Given the description of an element on the screen output the (x, y) to click on. 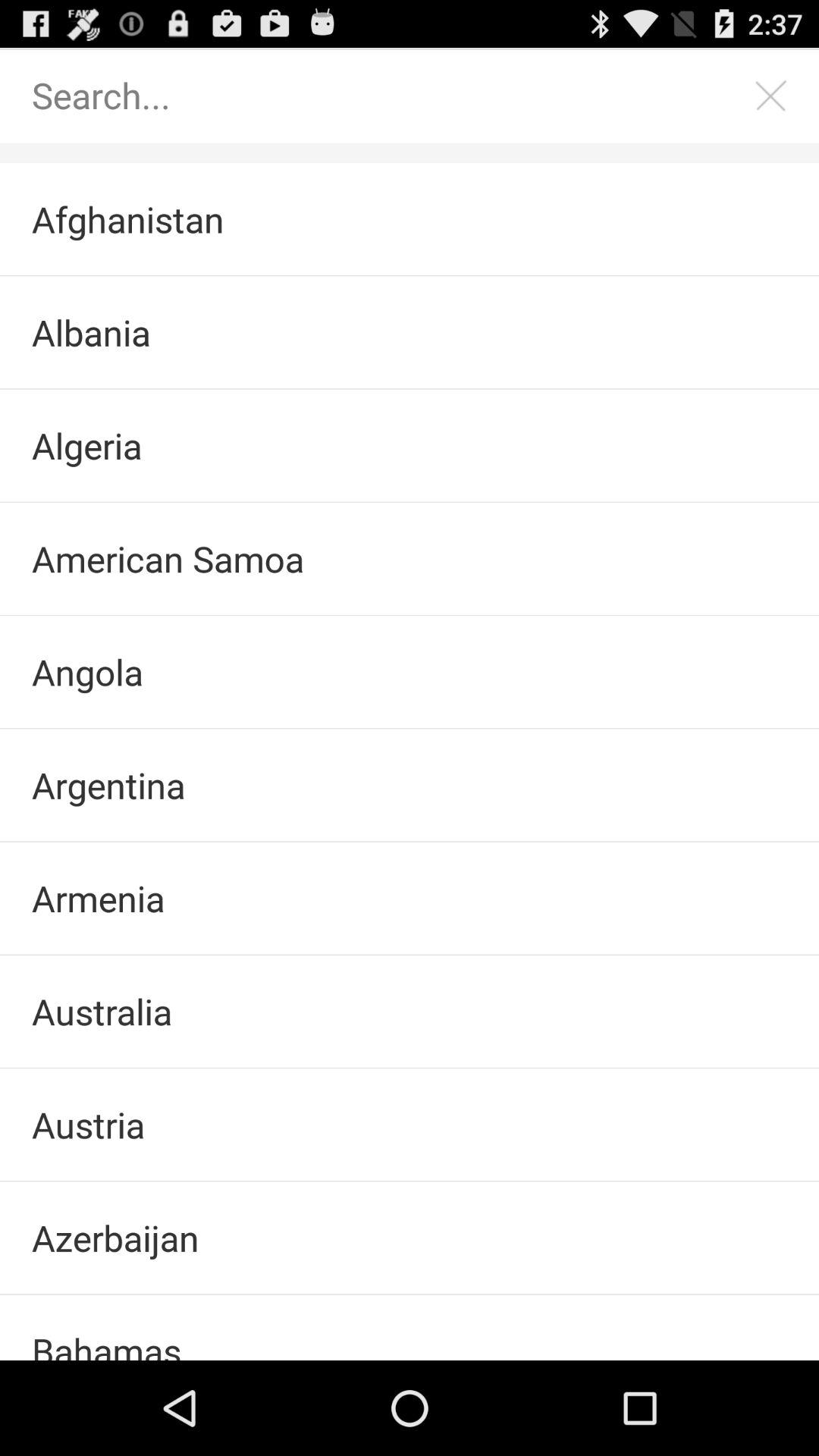
open the icon below algeria icon (409, 558)
